Given the description of an element on the screen output the (x, y) to click on. 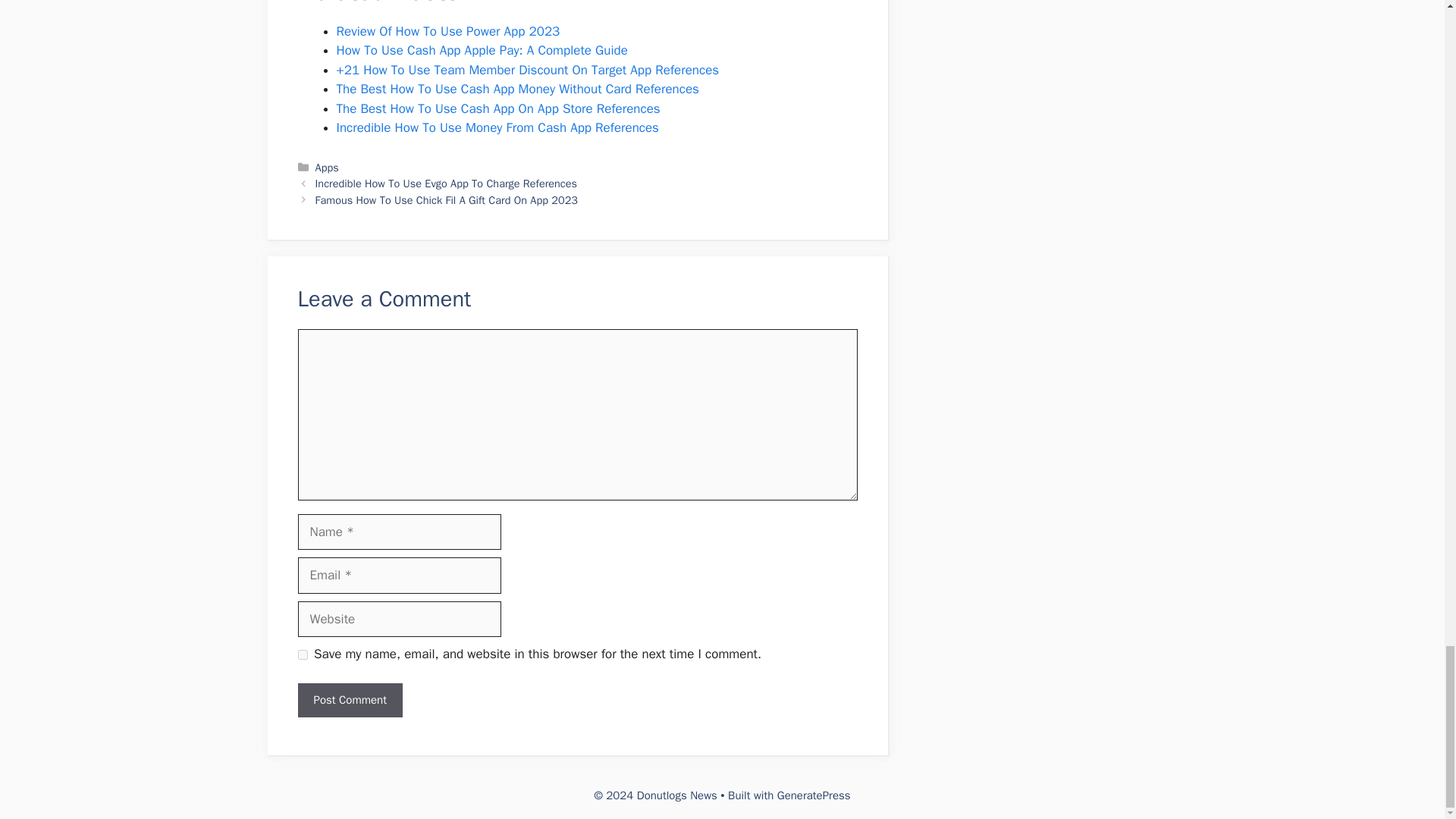
The Best How To Use Cash App On App Store References (498, 108)
Review Of How To Use Power App 2023 (448, 31)
How To Use Cash App Apple Pay: A Complete Guide (481, 50)
Post Comment (349, 700)
yes (302, 655)
The Best How To Use Cash App Money Without Card References (517, 89)
Incredible How To Use Money From Cash App References (497, 127)
Post Comment (349, 700)
Apps (327, 167)
Famous How To Use Chick Fil A Gift Card On App 2023 (446, 200)
Incredible How To Use Evgo App To Charge References (445, 183)
